Given the description of an element on the screen output the (x, y) to click on. 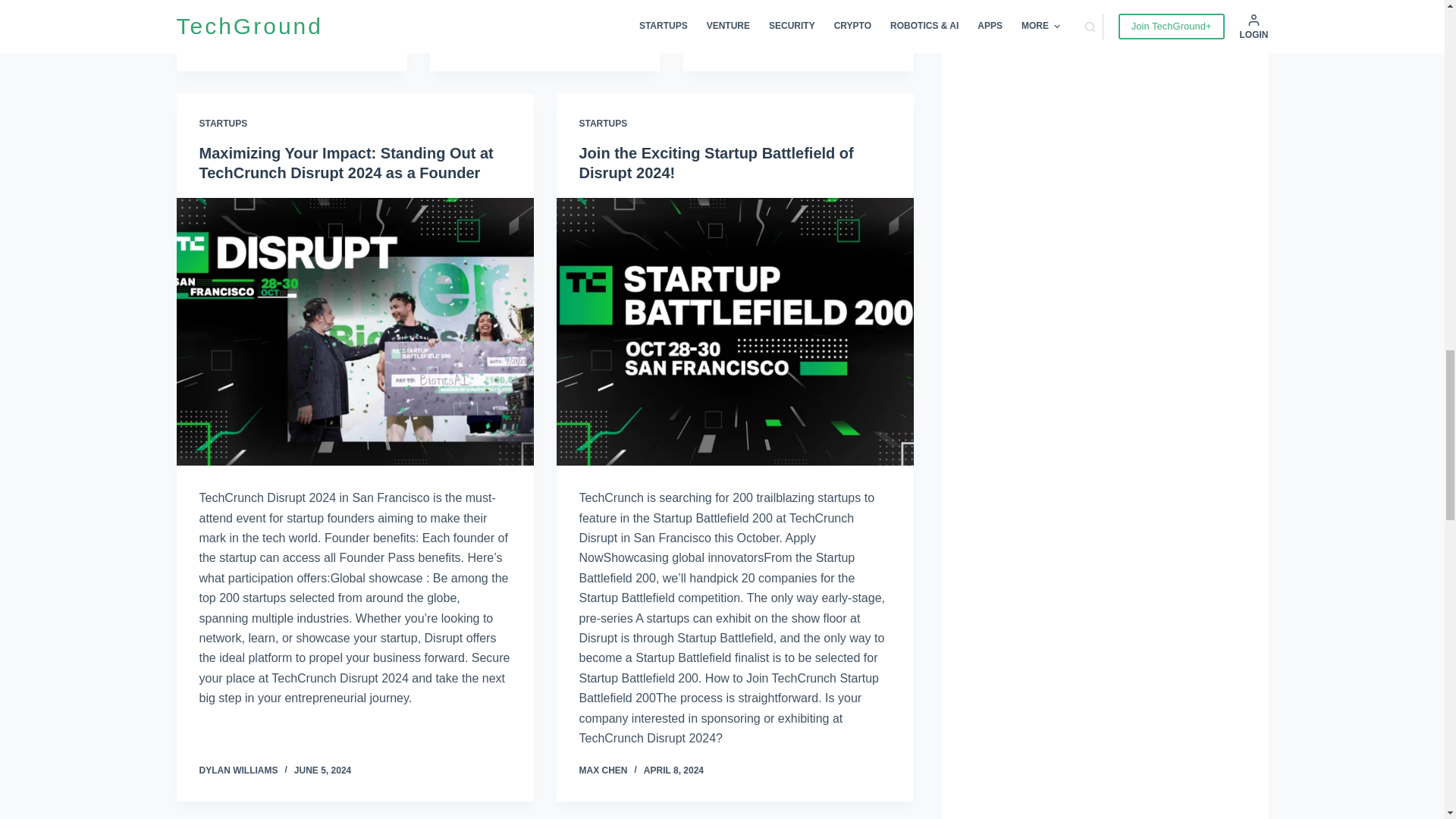
Posts by Kira Kim (472, 25)
Posts by Zara Khan (731, 40)
Posts by Dylan Williams (238, 769)
Posts by Max Chen (222, 40)
Posts by Max Chen (603, 769)
